Given the description of an element on the screen output the (x, y) to click on. 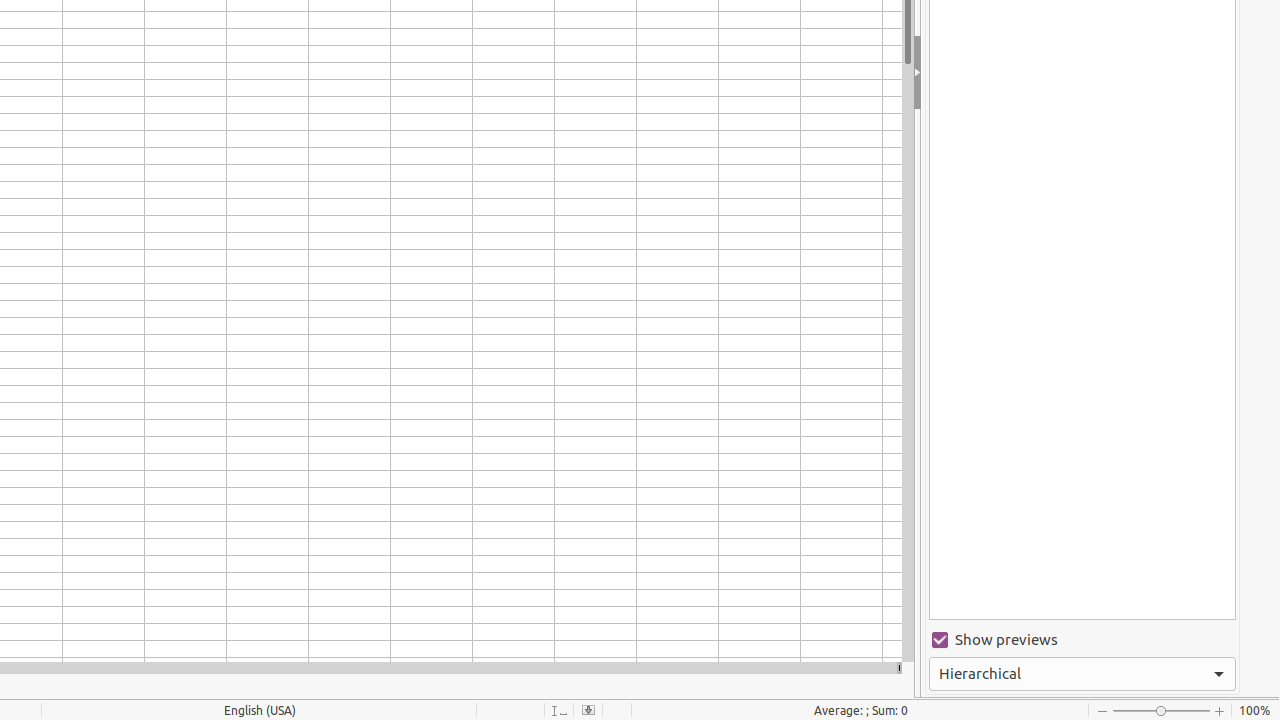
Show previews Element type: check-box (1082, 640)
